Given the description of an element on the screen output the (x, y) to click on. 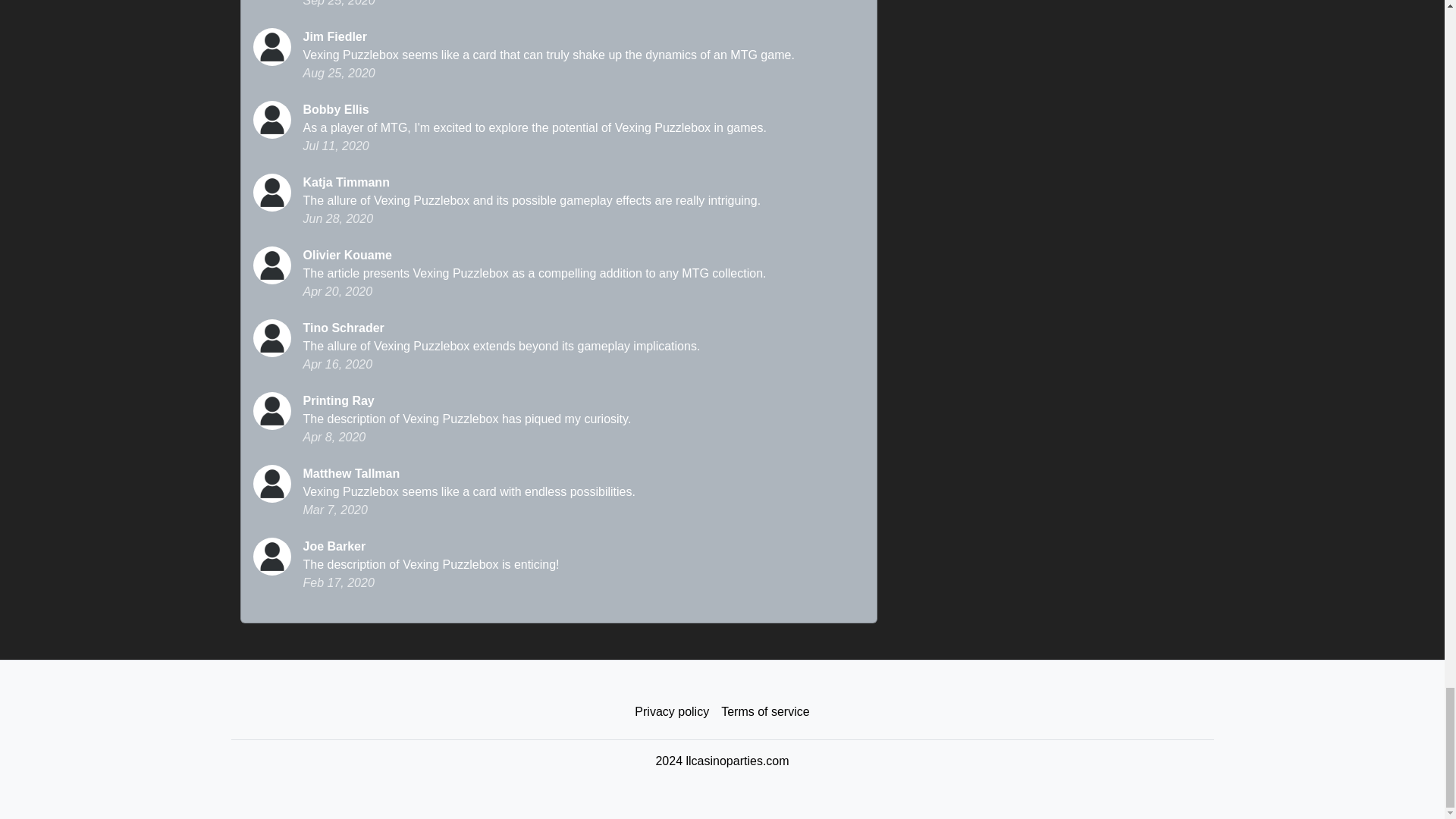
Terms of service (764, 711)
Privacy policy (671, 711)
